Given the description of an element on the screen output the (x, y) to click on. 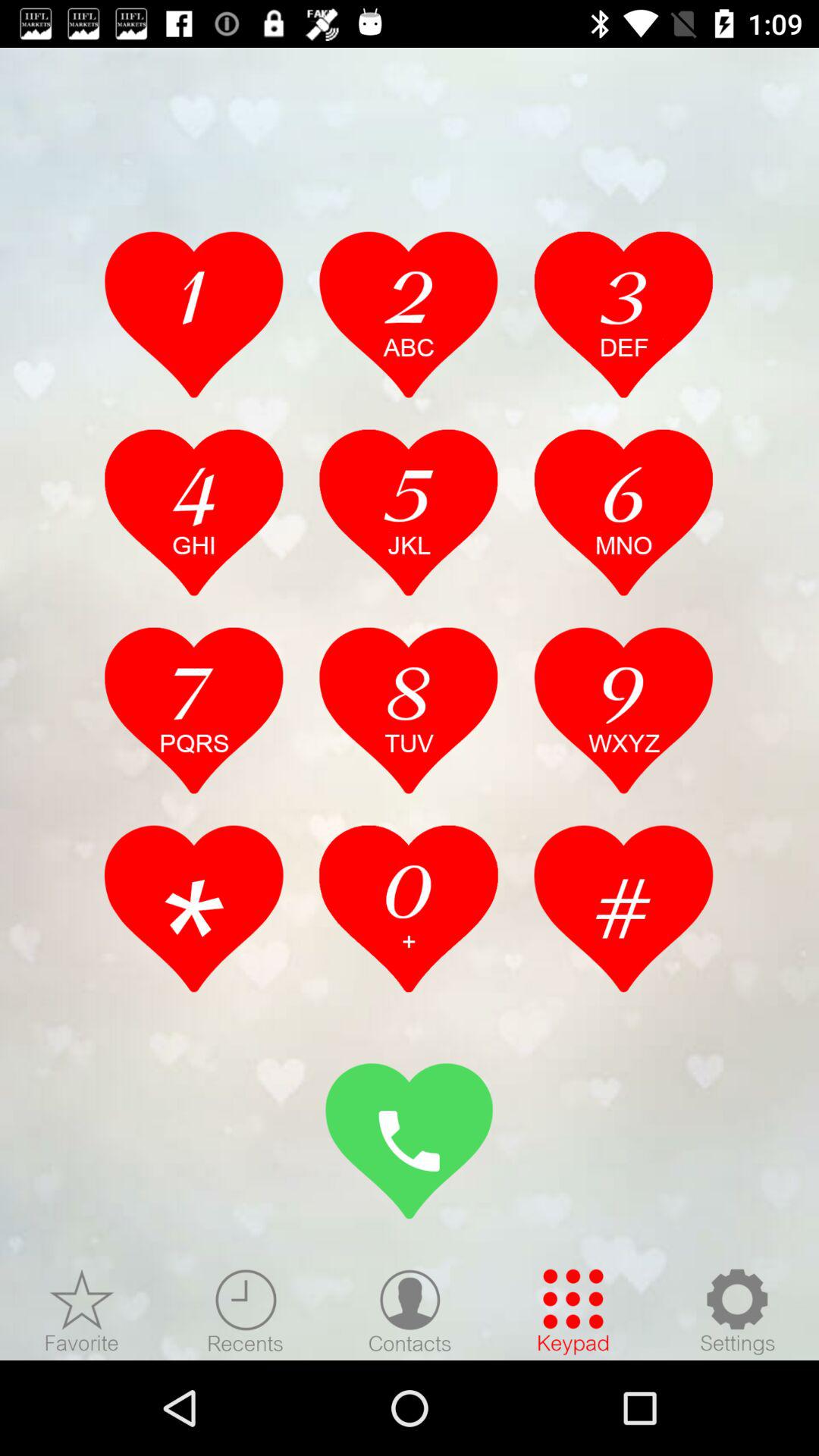
number pad (194, 710)
